Given the description of an element on the screen output the (x, y) to click on. 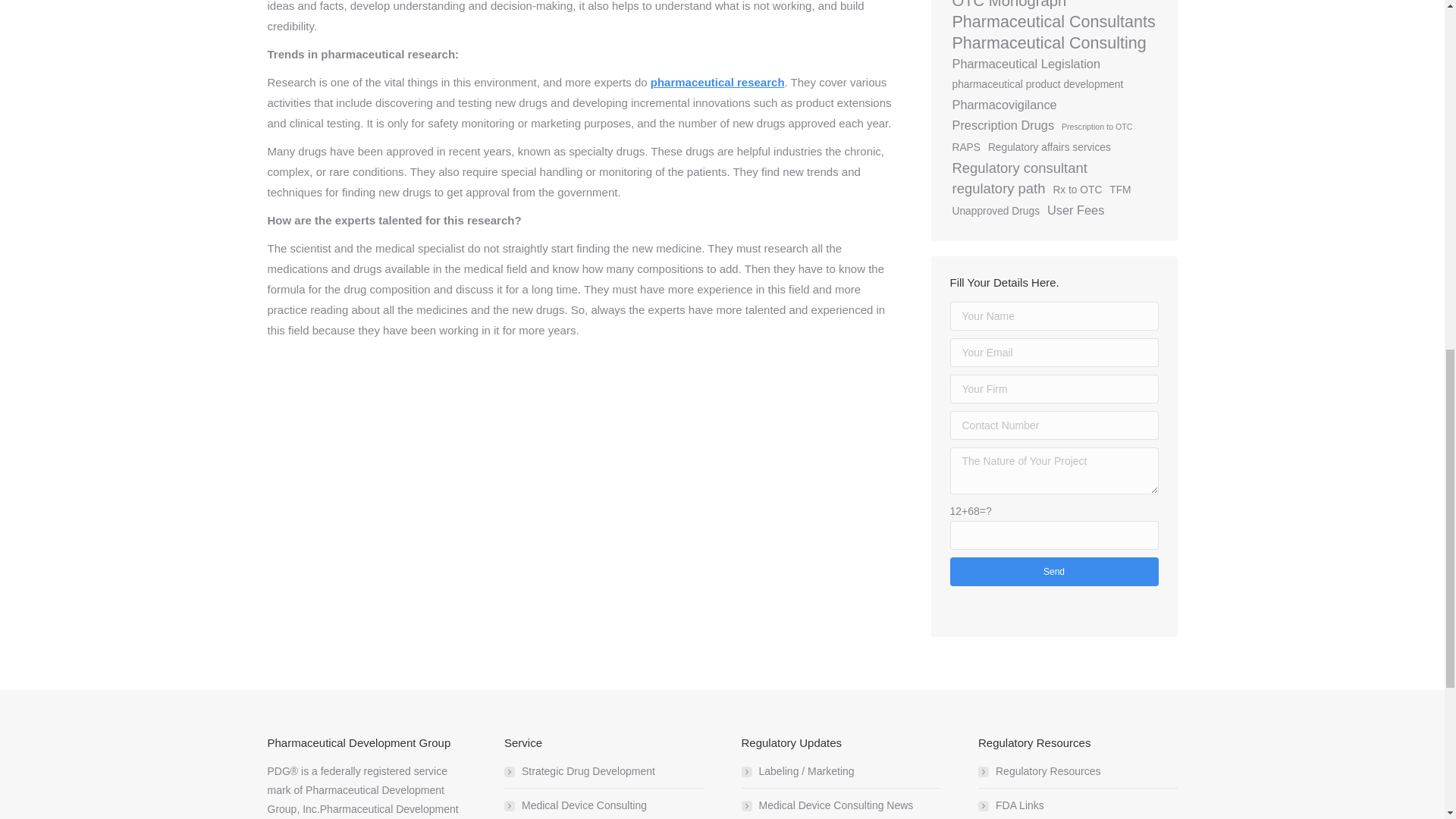
Send (1053, 571)
